Given the description of an element on the screen output the (x, y) to click on. 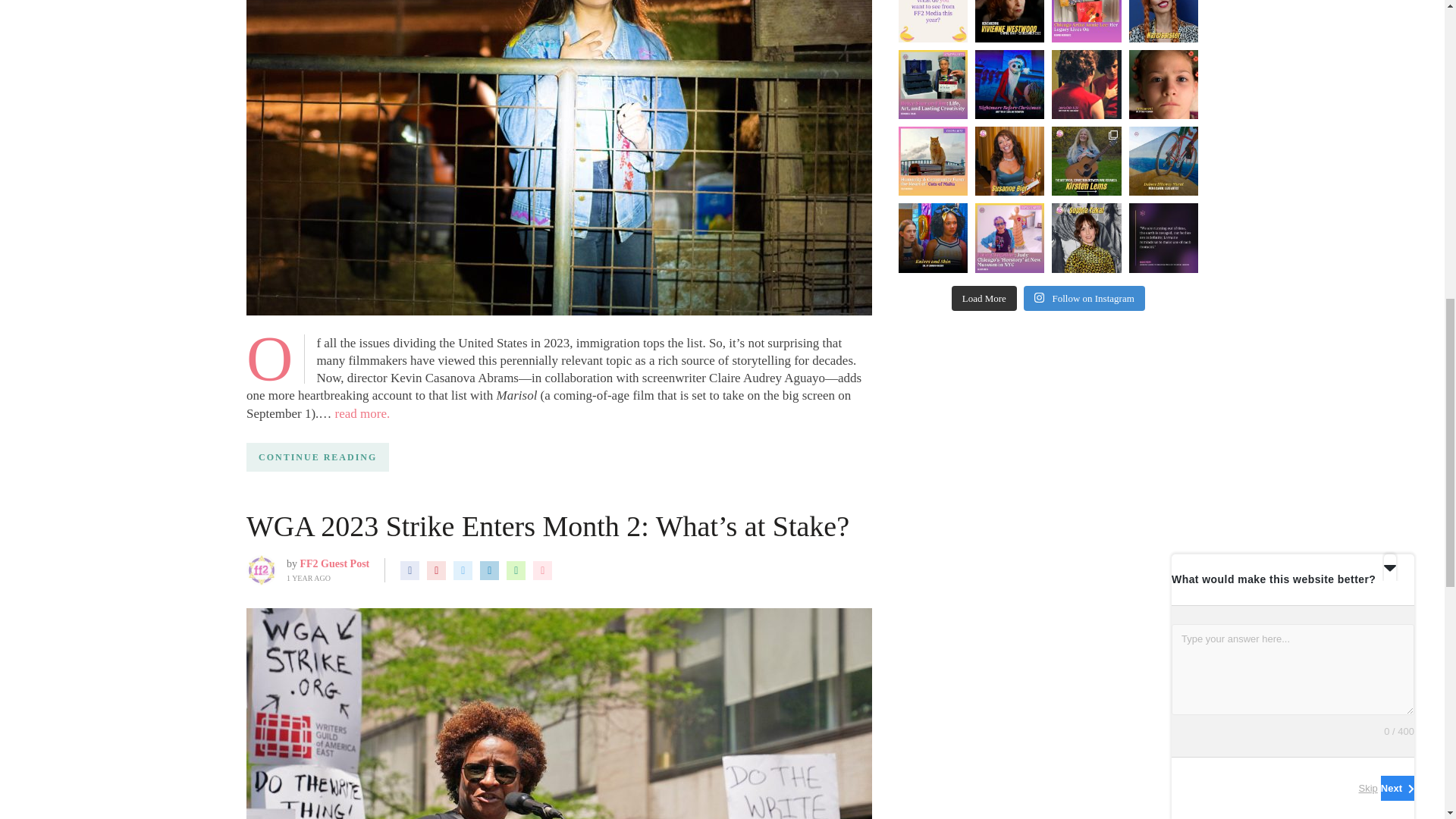
FF2 Guest Post (334, 563)
read more. (362, 413)
CONTINUE READING (317, 457)
Posts by FF2 Guest Post (334, 563)
